Given the description of an element on the screen output the (x, y) to click on. 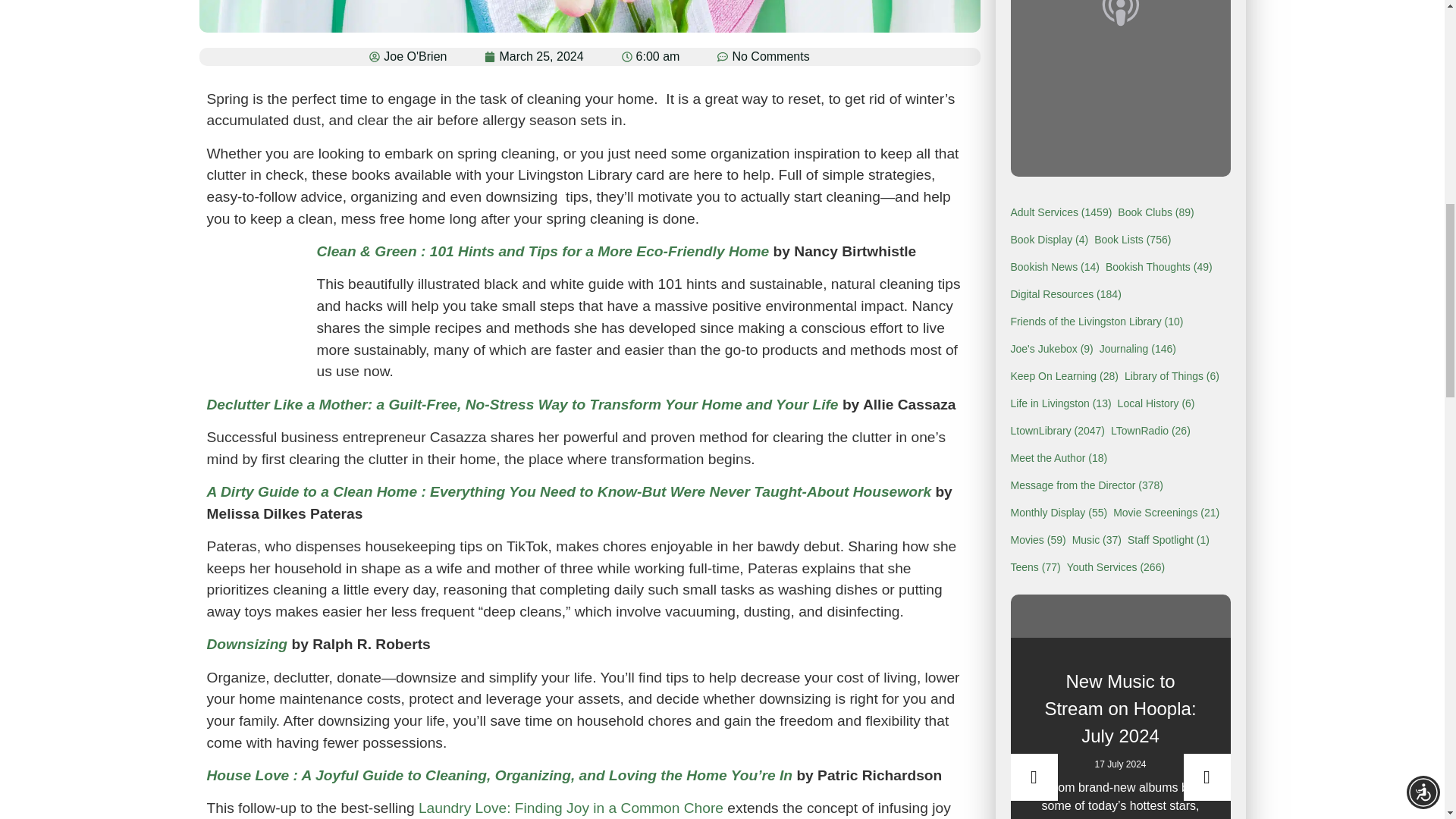
previous item (1033, 776)
next item (1206, 776)
